Given the description of an element on the screen output the (x, y) to click on. 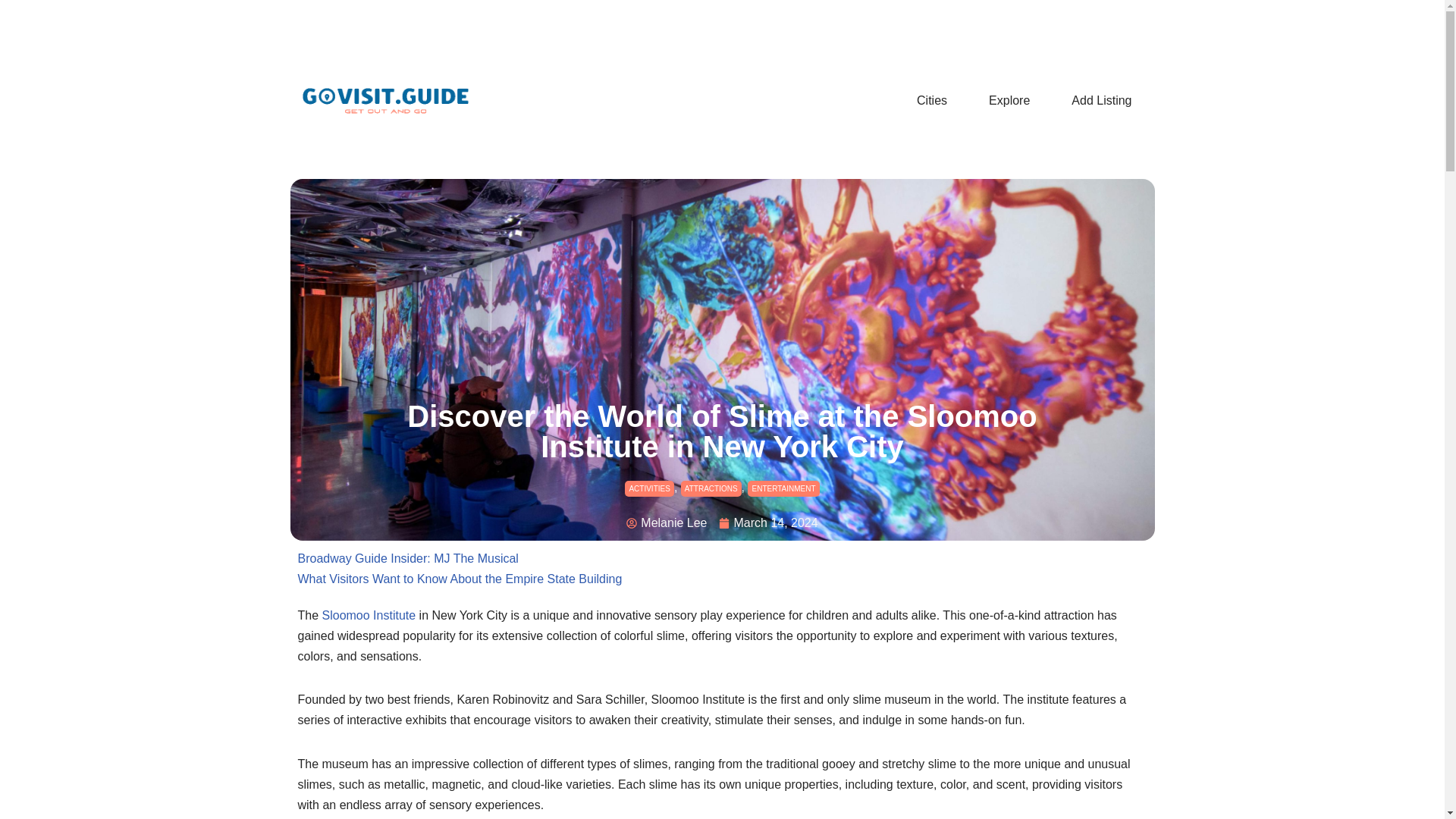
Explore (1009, 100)
Skip to content (11, 31)
Cities (931, 100)
Add Listing (1102, 100)
